Given the description of an element on the screen output the (x, y) to click on. 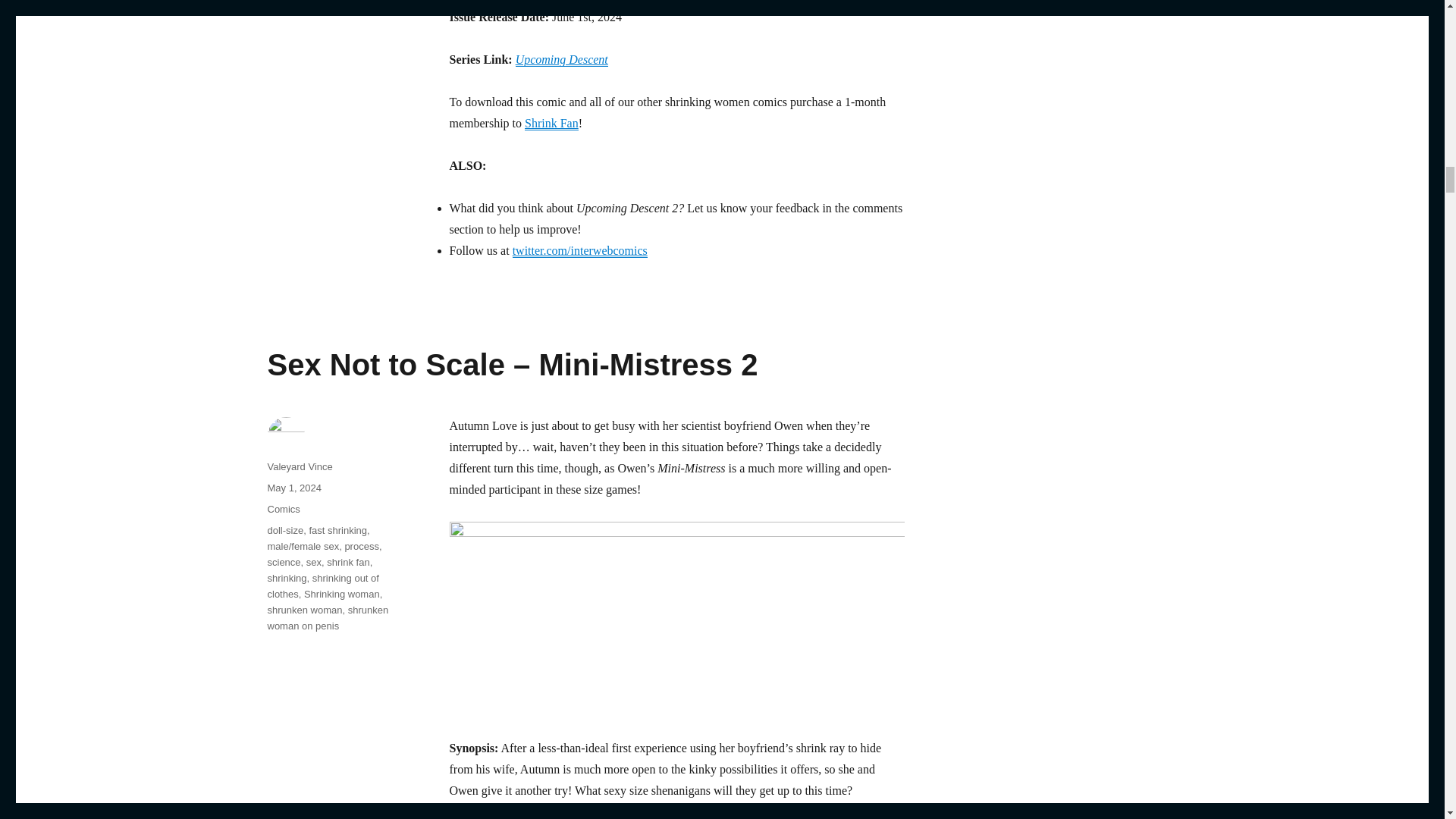
Shrink Fan (551, 123)
Upcoming Descent (561, 59)
